Given the description of an element on the screen output the (x, y) to click on. 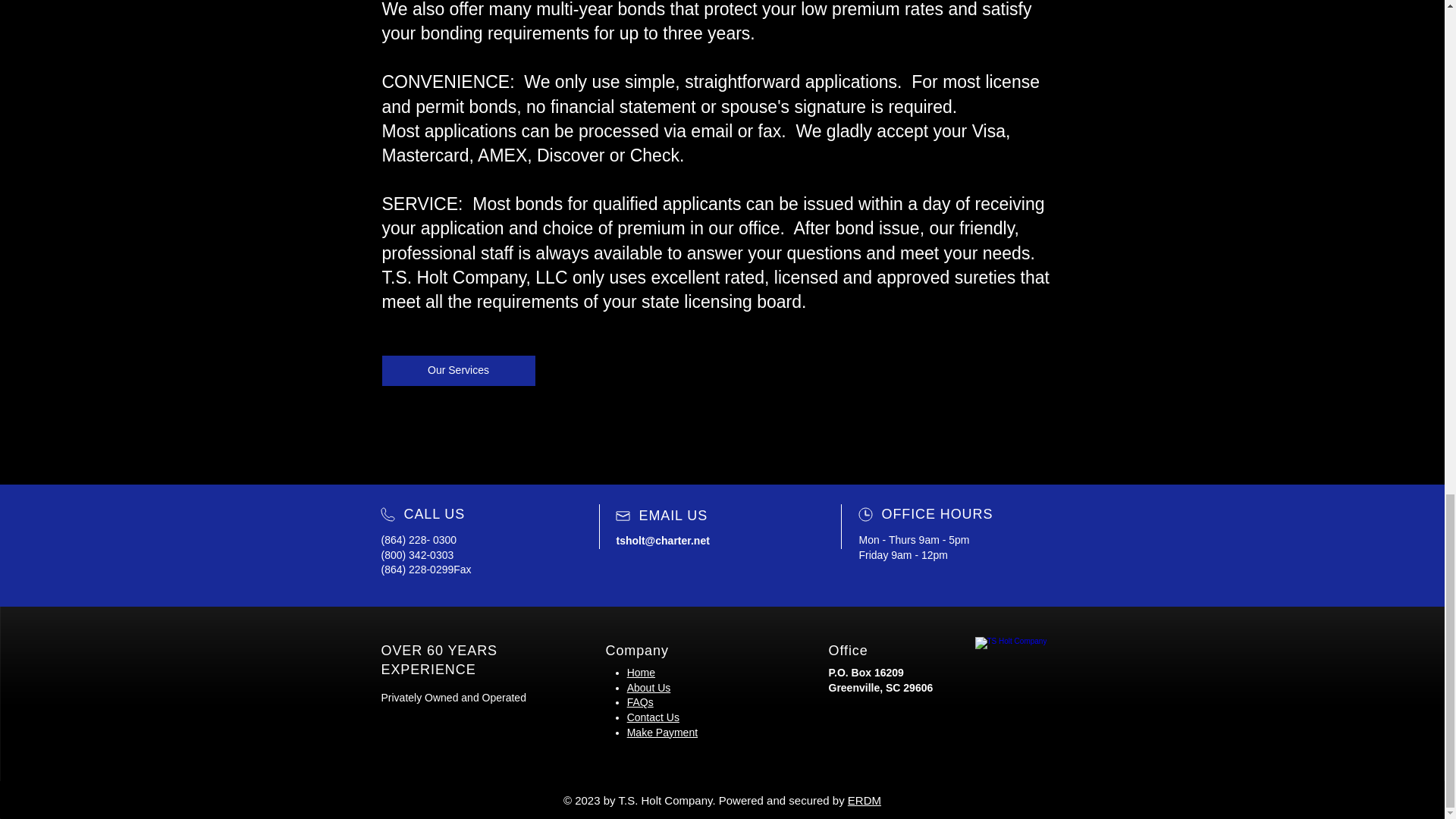
Home (641, 672)
About Us (649, 687)
Make Payment (662, 732)
FAQs (640, 702)
Our Services (458, 370)
ERDM (863, 799)
Contact Us (653, 717)
